Given the description of an element on the screen output the (x, y) to click on. 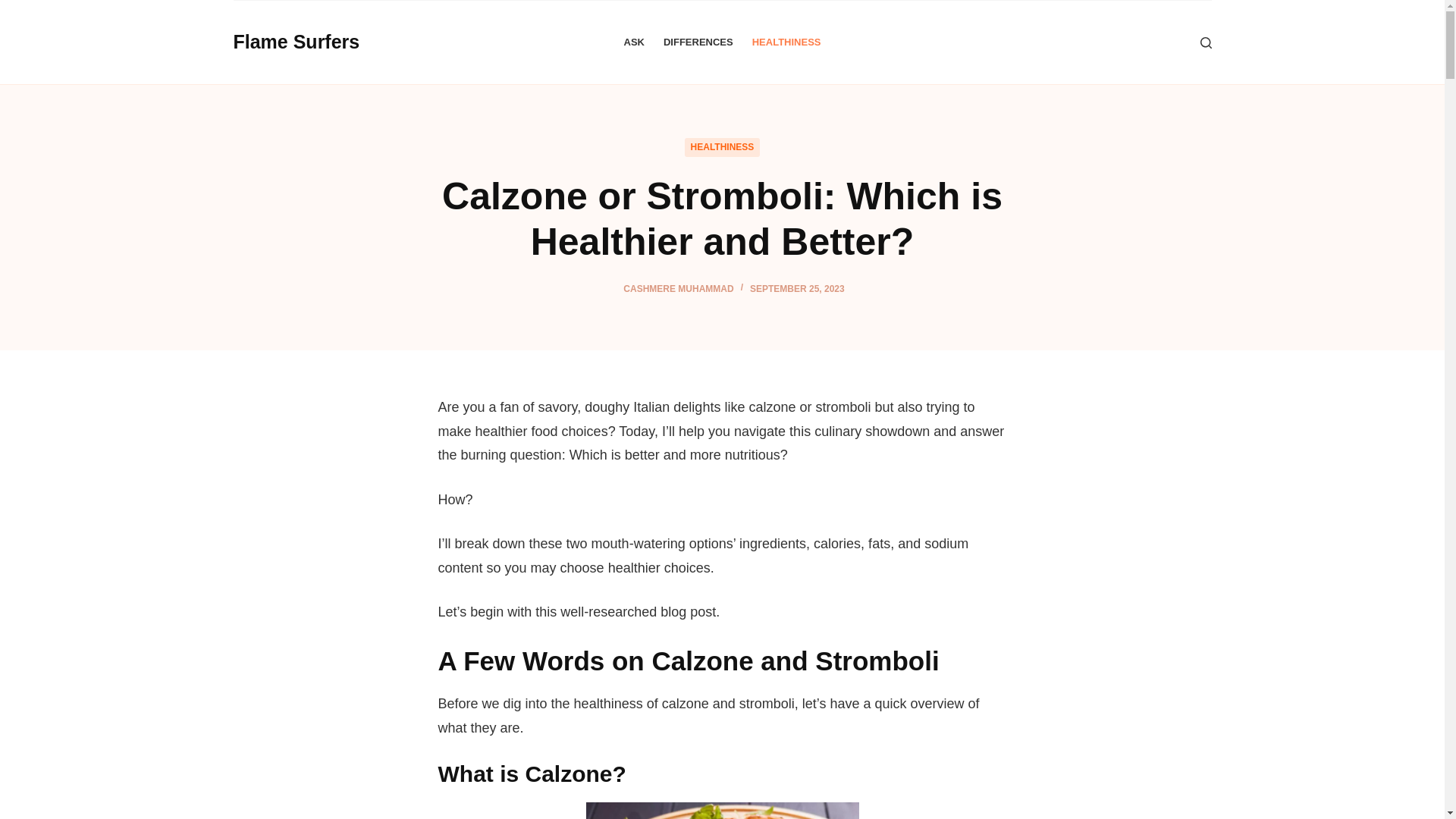
CASHMERE MUHAMMAD (678, 288)
Calzone or Stromboli: Which is Healthier and Better? (722, 218)
DIFFERENCES (697, 42)
Flame Surfers (295, 41)
Skip to content (15, 7)
Posts by Cashmere Muhammad (678, 288)
HEALTHINESS (722, 147)
HEALTHINESS (785, 42)
